Given the description of an element on the screen output the (x, y) to click on. 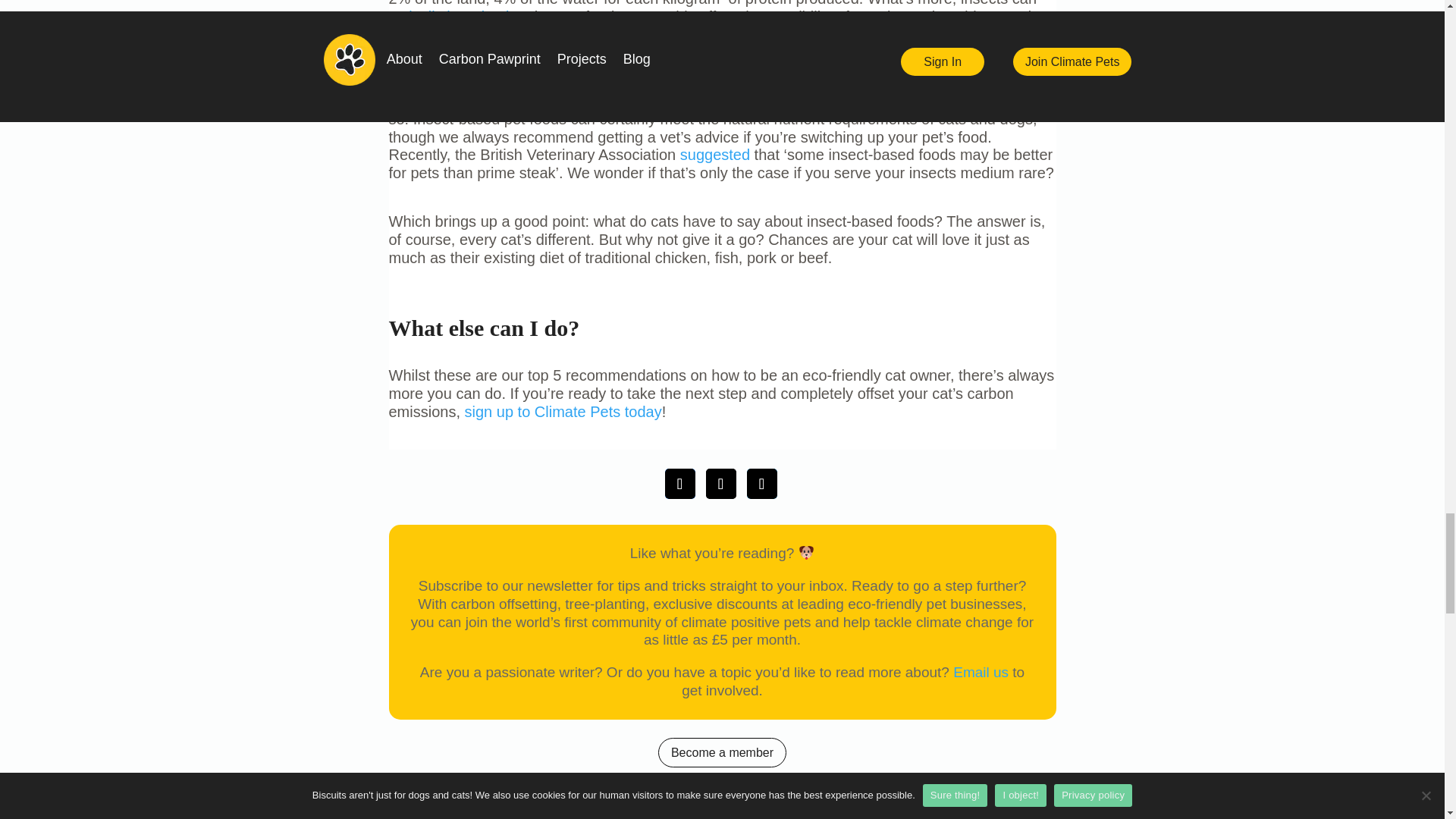
Become a member (722, 752)
suggested (714, 154)
typically be raised (448, 16)
Email us (981, 672)
sign up to Climate Pets today (563, 411)
